Given the description of an element on the screen output the (x, y) to click on. 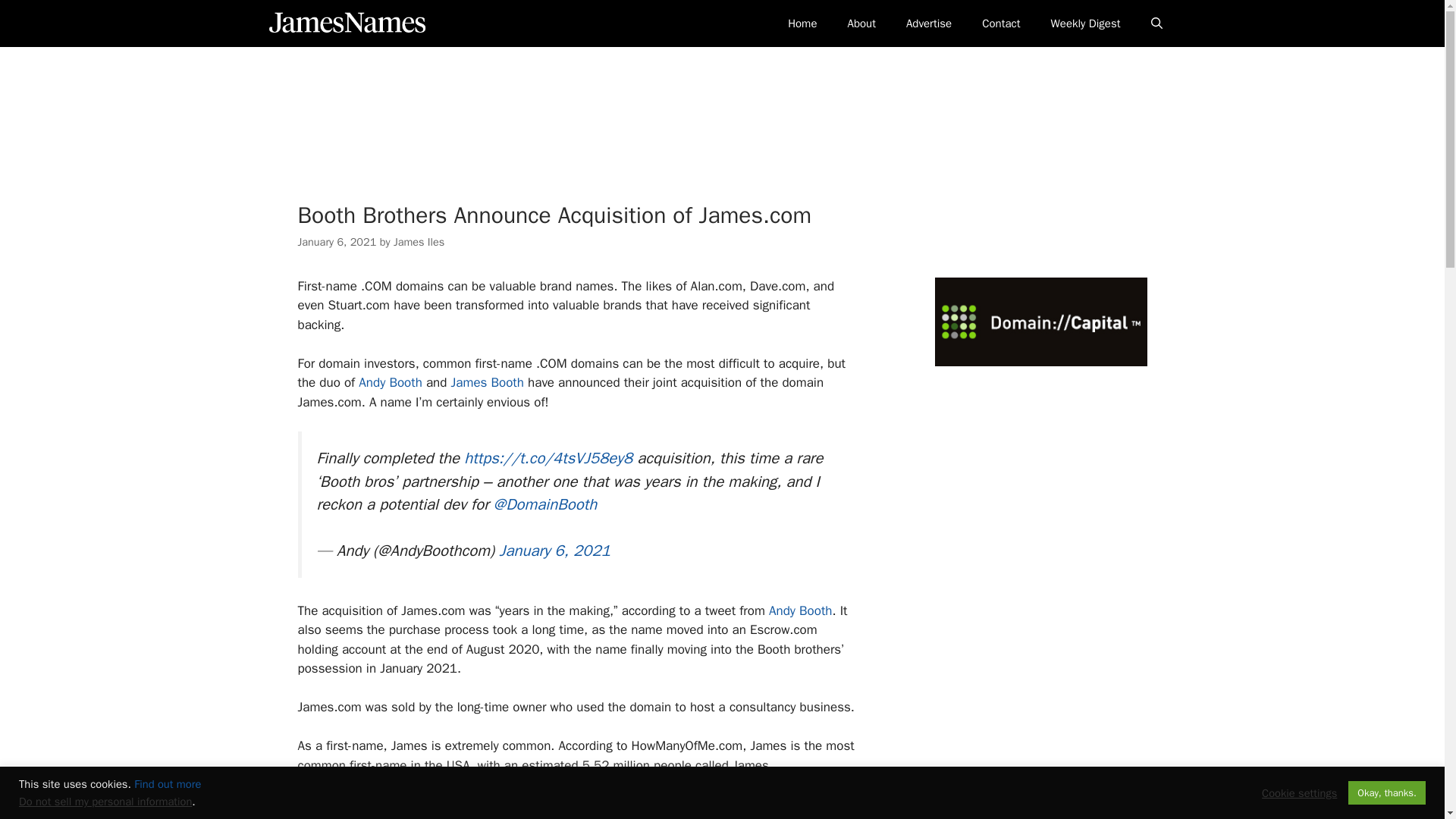
Andrew Rosener (608, 816)
Andy Booth (390, 382)
James Iles (418, 241)
Find out more (166, 784)
Contact (1000, 22)
Advertise (928, 22)
Andy Booth (800, 610)
gd-ending-soon (721, 101)
View all posts by James Iles (418, 241)
Do not sell my personal information (105, 801)
Home (802, 22)
James Names  (346, 23)
Cookie settings (1299, 792)
Weekly Digest (1085, 22)
James Booth (487, 382)
